Given the description of an element on the screen output the (x, y) to click on. 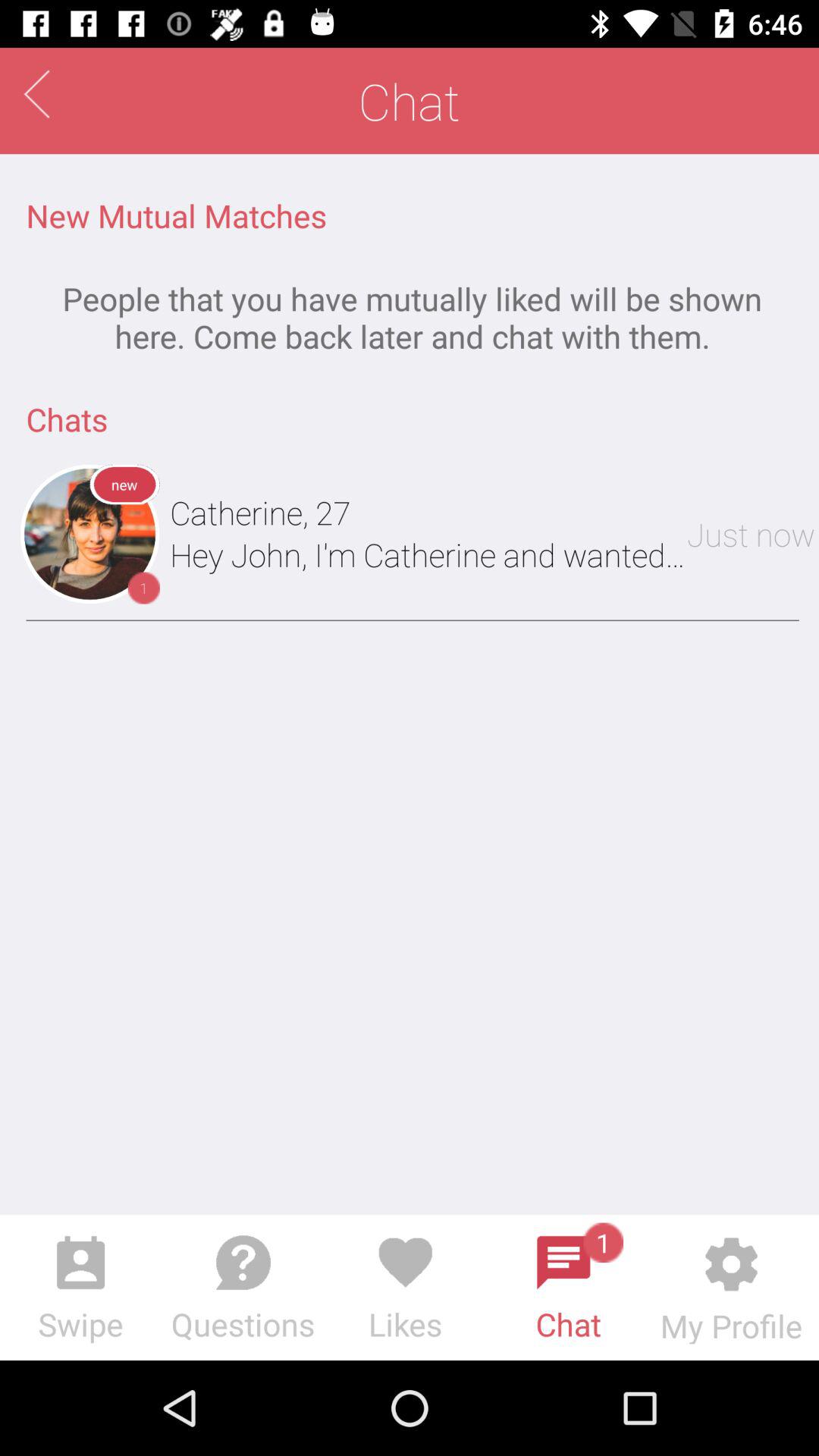
go back (36, 93)
